Given the description of an element on the screen output the (x, y) to click on. 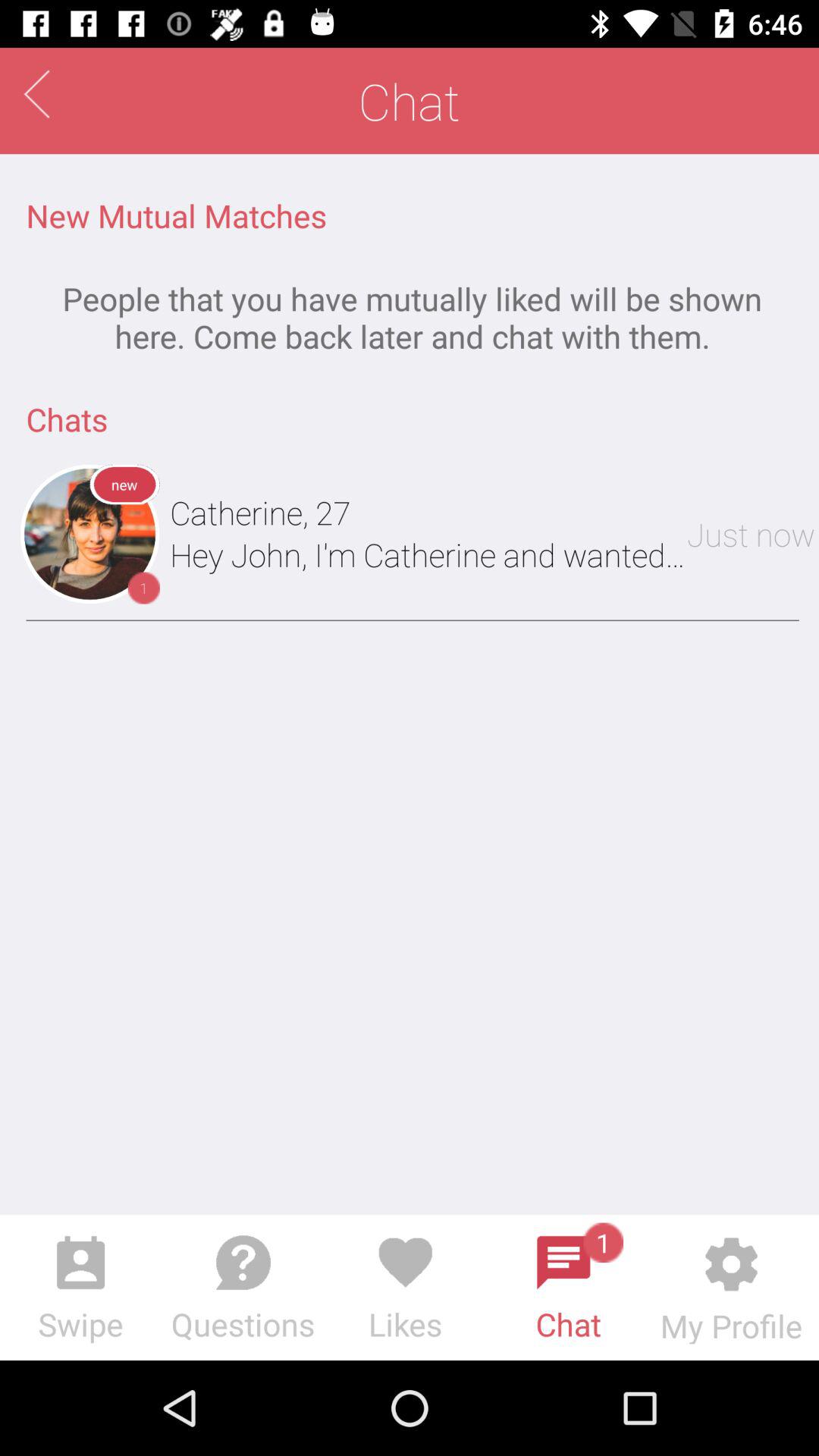
go back (36, 93)
